Given the description of an element on the screen output the (x, y) to click on. 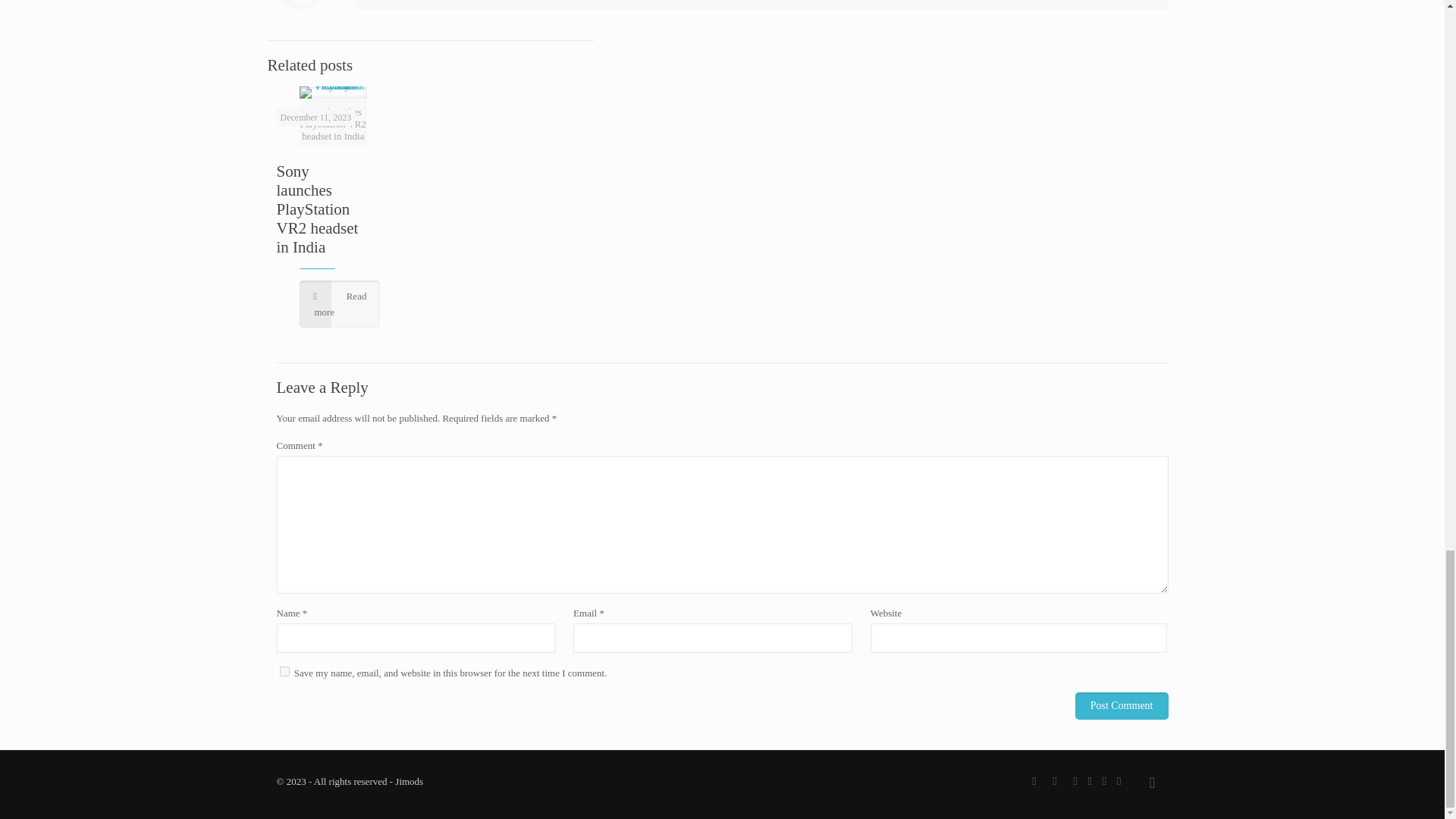
RSS (1104, 780)
Post Comment (1122, 705)
yes (283, 671)
Instagram (1034, 780)
Read more (339, 303)
Twitter (1075, 780)
Facebook (1054, 780)
